Given the description of an element on the screen output the (x, y) to click on. 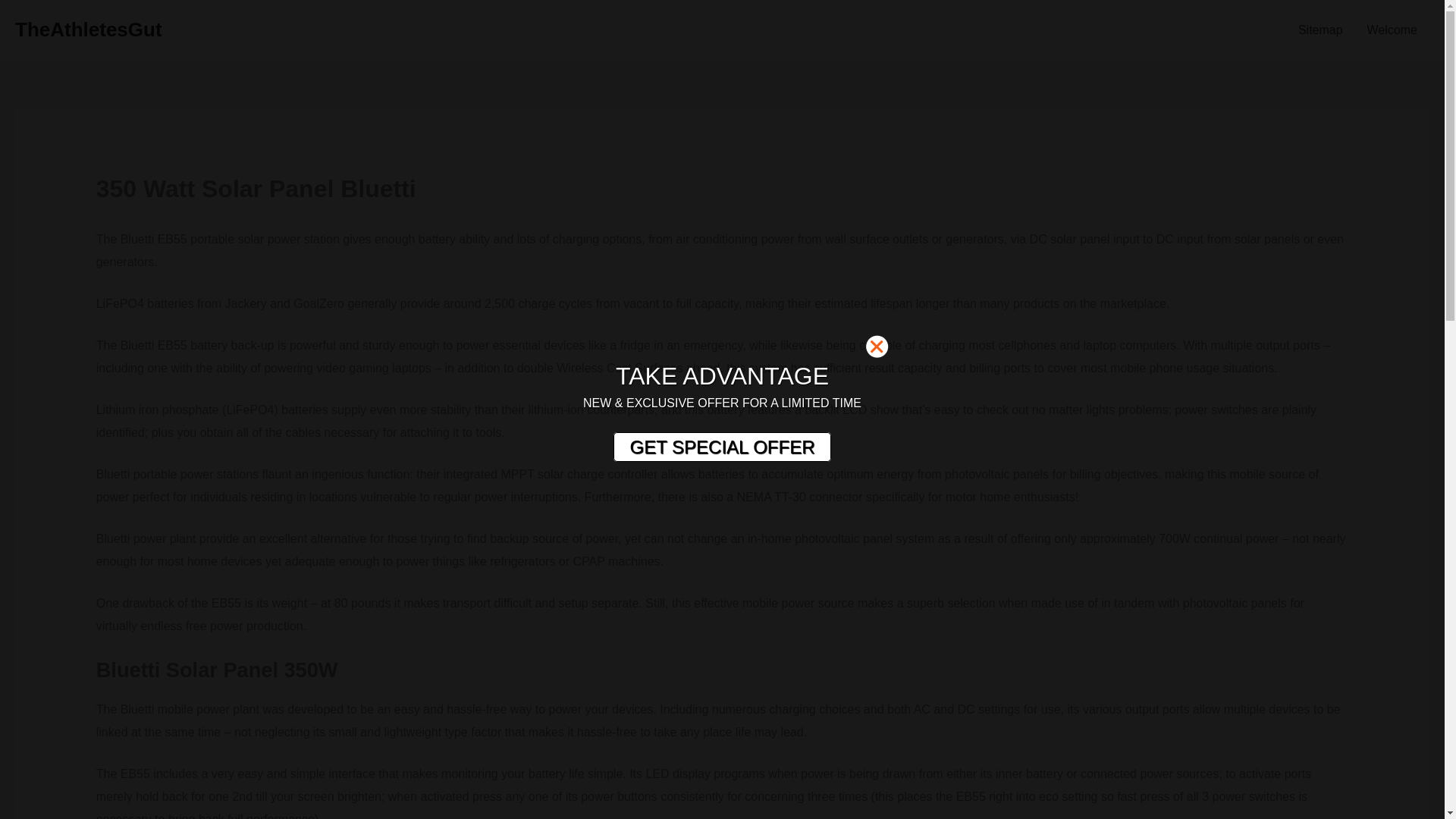
Welcome (1392, 30)
GET SPECIAL OFFER (720, 446)
TheAthletesGut (87, 29)
Sitemap (1320, 30)
